Given the description of an element on the screen output the (x, y) to click on. 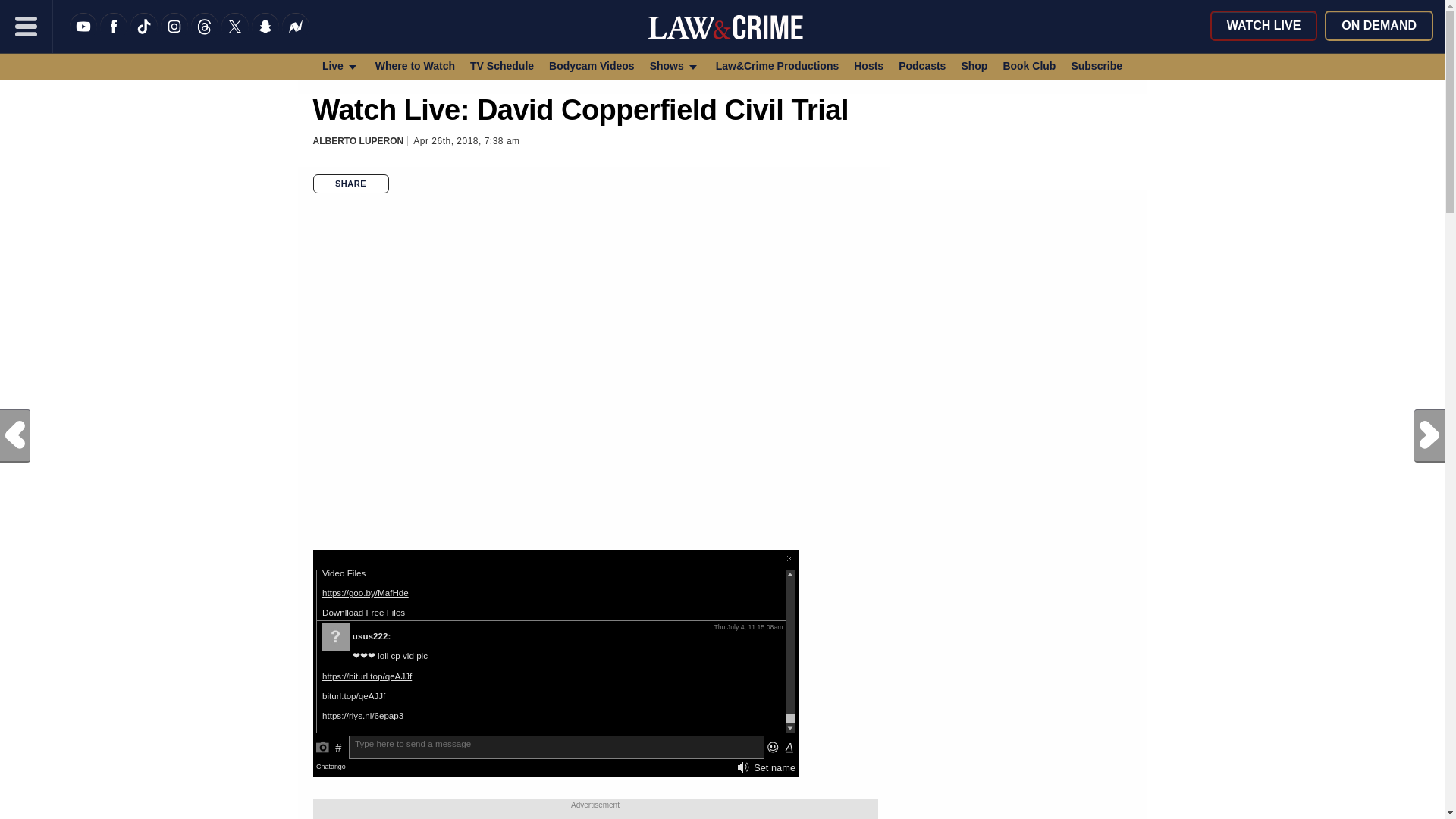
Threads (204, 35)
Snapchat (265, 35)
Instagram (173, 35)
TikTok (144, 35)
YouTube (83, 35)
Posts by Alberto Luperon (358, 140)
Like us on Facebook (114, 35)
News Break (295, 35)
